Given the description of an element on the screen output the (x, y) to click on. 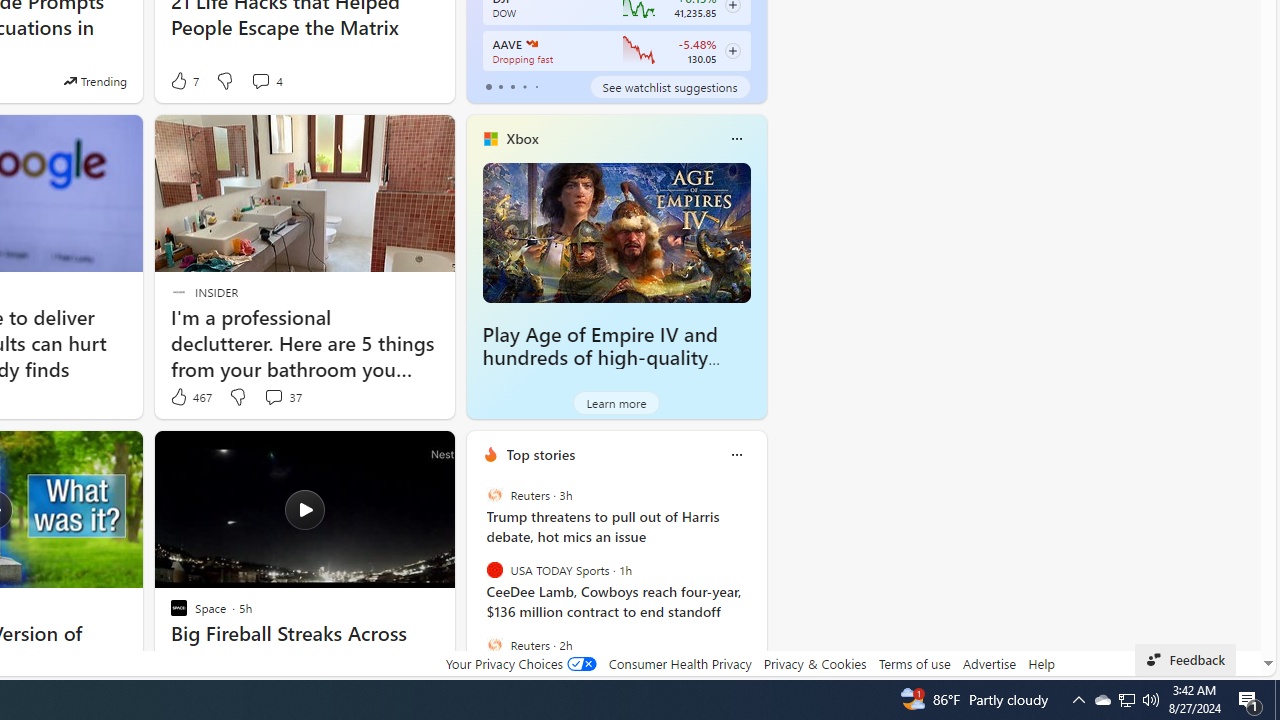
Consumer Health Privacy (680, 663)
Your Privacy Choices (520, 663)
7 Like (183, 80)
View comments 4 Comment (260, 80)
tab-0 (488, 86)
Class: icon-img (736, 454)
Aave (530, 43)
Privacy & Cookies (814, 663)
tab-1 (500, 86)
